Given the description of an element on the screen output the (x, y) to click on. 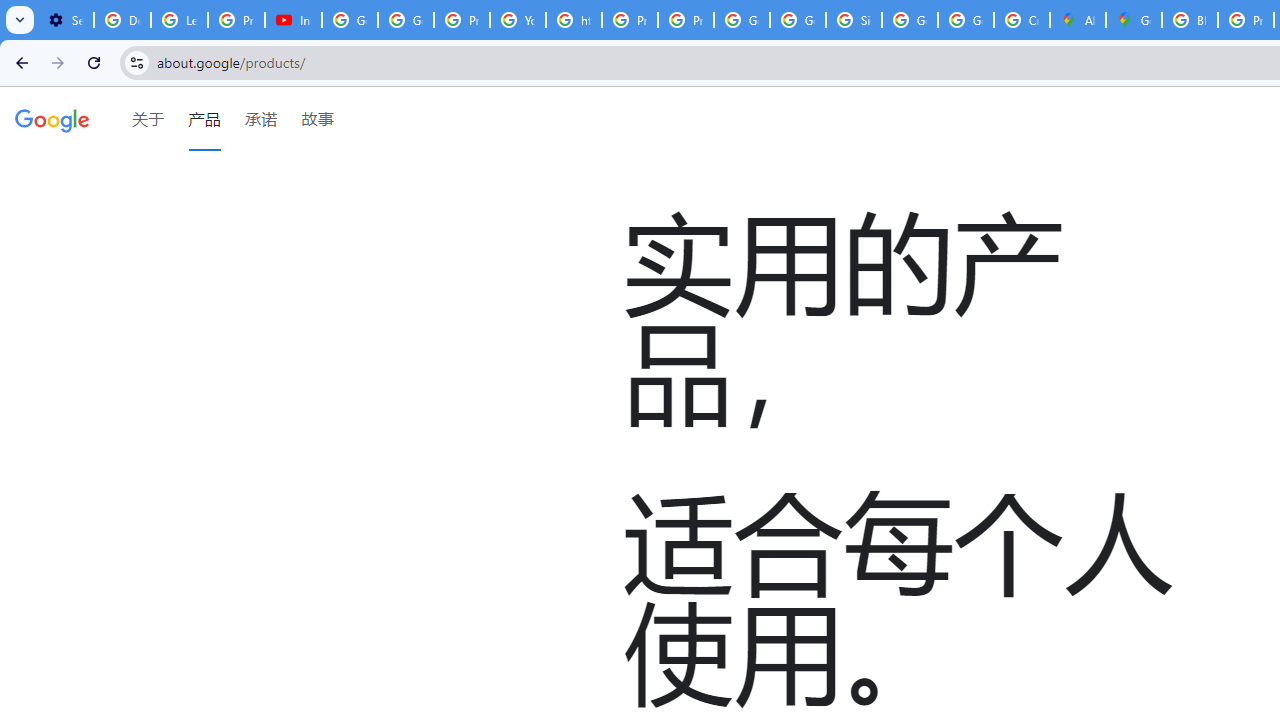
Privacy Help Center - Policies Help (629, 20)
Sign in - Google Accounts (853, 20)
Privacy Help Center - Policies Help (461, 20)
Introduction | Google Privacy Policy - YouTube (293, 20)
Google Maps (1133, 20)
Create your Google Account (1021, 20)
